Given the description of an element on the screen output the (x, y) to click on. 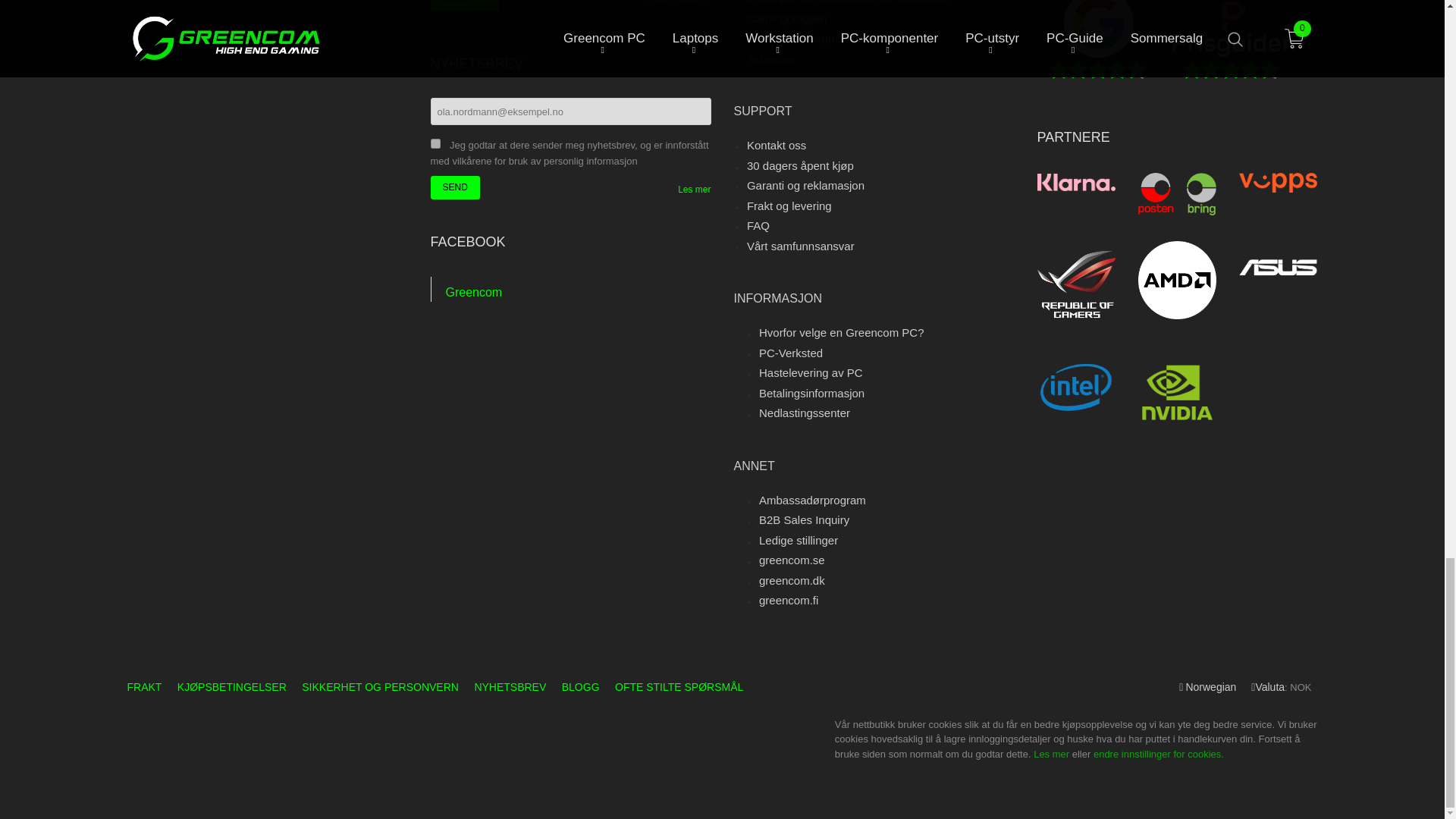
Logg inn (464, 5)
on (435, 143)
Send (455, 187)
